Given the description of an element on the screen output the (x, y) to click on. 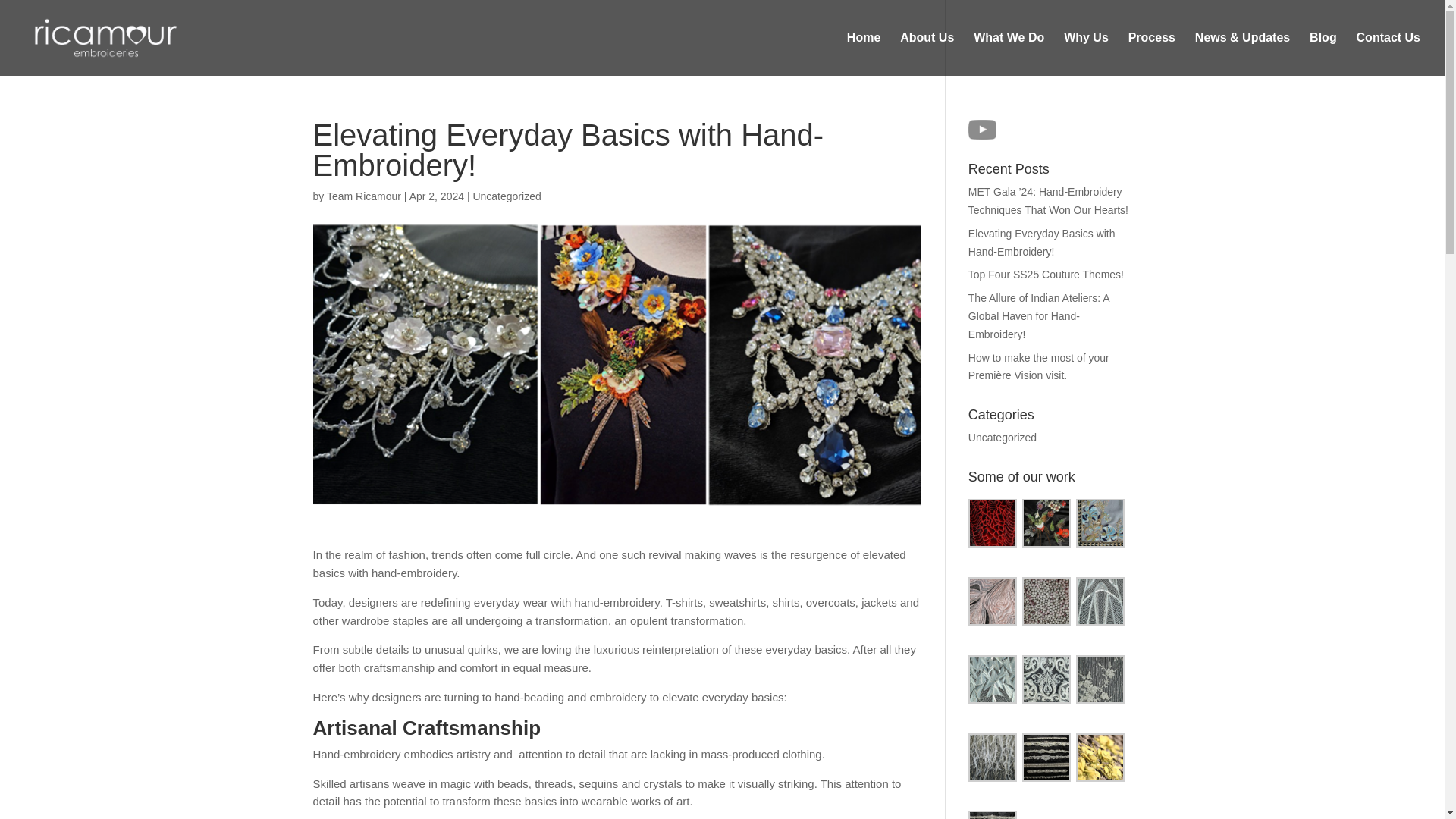
What We Do (1008, 54)
About Us (926, 54)
Posts by Team Ricamour (363, 196)
Elevating Everyday Basics with Hand-Embroidery!  (1041, 242)
Contact Us (1388, 54)
Why Us (1086, 54)
Uncategorized (1002, 437)
Process (1151, 54)
Uncategorized (505, 196)
Top Four SS25 Couture Themes! (1046, 274)
Team Ricamour (363, 196)
